Given the description of an element on the screen output the (x, y) to click on. 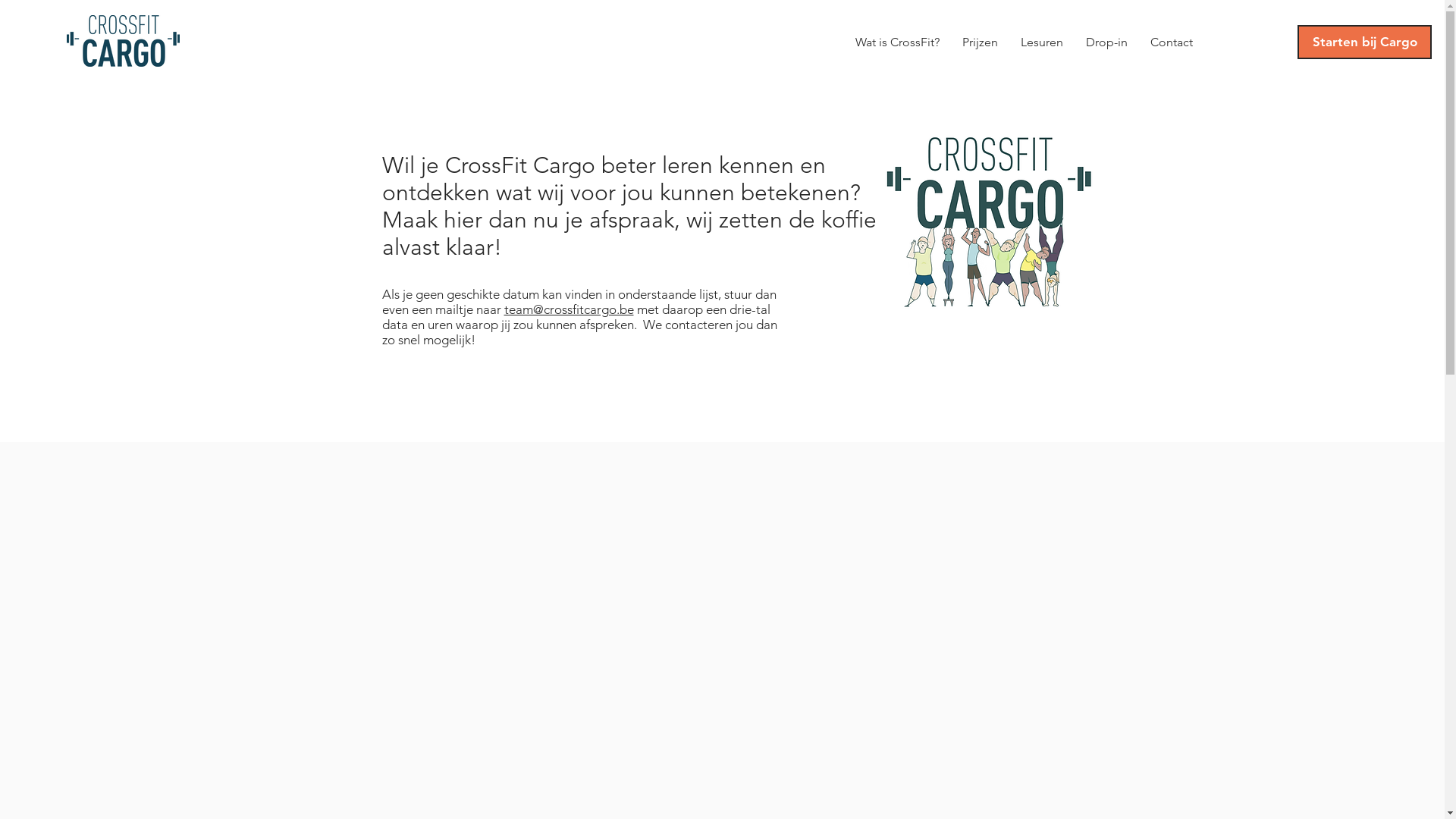
team@crossfitcargo.be Element type: text (568, 308)
Wat is CrossFit? Element type: text (897, 41)
logo cfcargo.png Element type: hover (122, 40)
Lesuren Element type: text (1041, 41)
Contact Element type: text (1171, 41)
Prijzen Element type: text (979, 41)
Starten bij Cargo Element type: text (1364, 42)
Drop-in Element type: text (1106, 41)
